Given the description of an element on the screen output the (x, y) to click on. 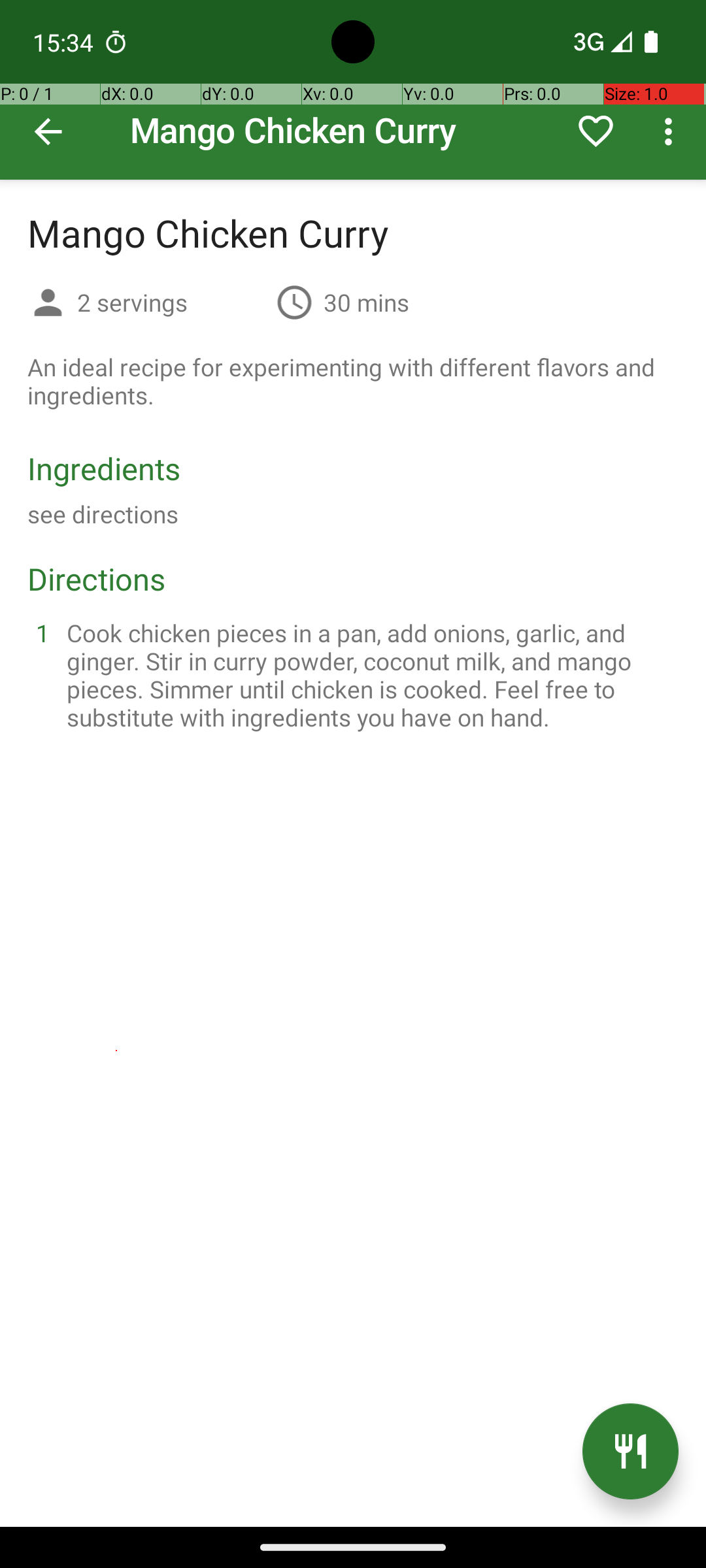
Mango Chicken Curry Element type: android.widget.FrameLayout (353, 89)
Cook chicken pieces in a pan, add onions, garlic, and ginger. Stir in curry powder, coconut milk, and mango pieces. Simmer until chicken is cooked. Feel free to substitute with ingredients you have on hand. Element type: android.widget.TextView (368, 674)
